Given the description of an element on the screen output the (x, y) to click on. 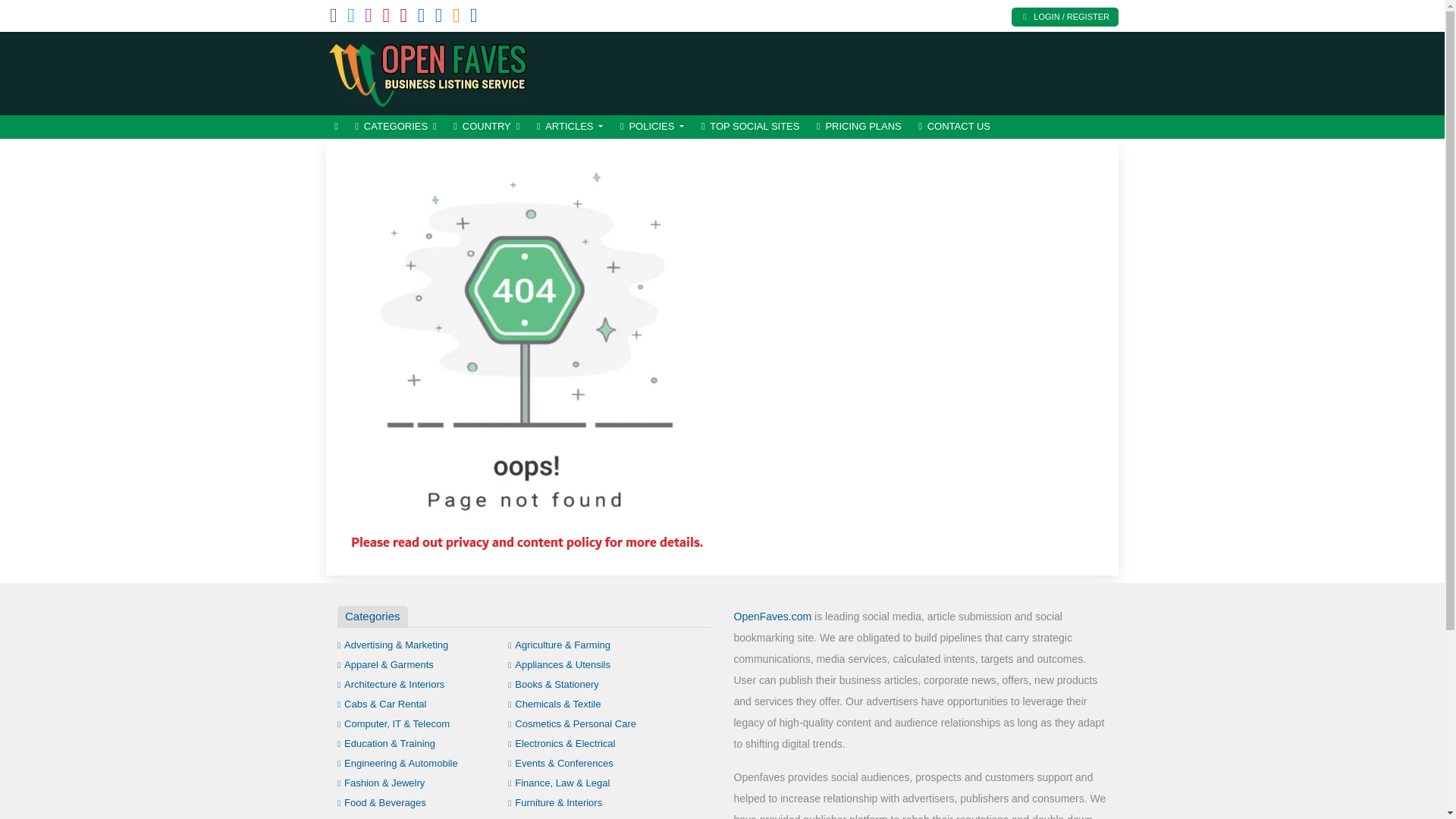
Discover Latest News, Top Videos and Best Photos from Web (428, 71)
CATEGORIES (395, 126)
